Given the description of an element on the screen output the (x, y) to click on. 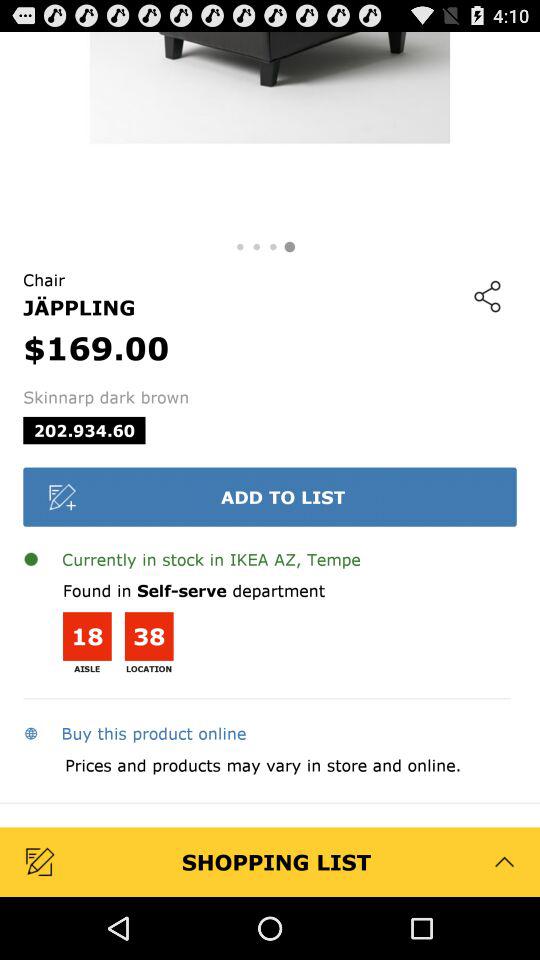
share item (487, 296)
